Given the description of an element on the screen output the (x, y) to click on. 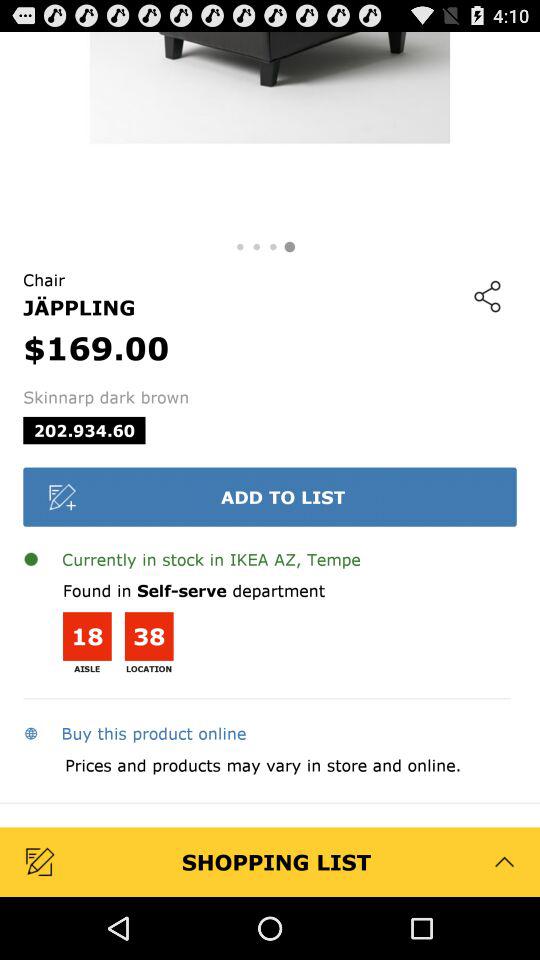
share item (487, 296)
